Given the description of an element on the screen output the (x, y) to click on. 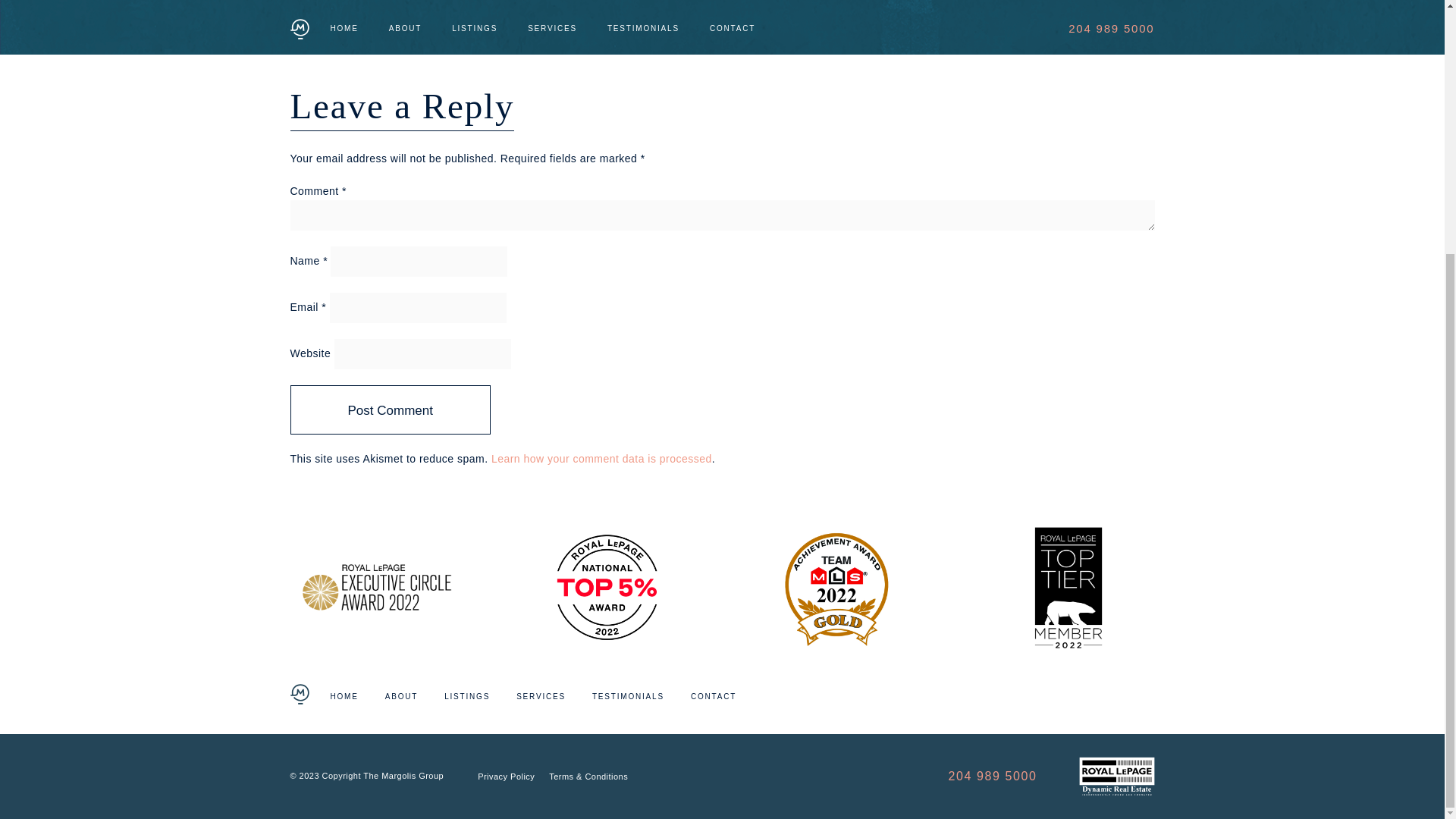
RLP National Top 5 Award 2022 (606, 586)
LISTINGS (466, 696)
Learn how your comment data is processed (601, 458)
RLP Top Tier Member 2022 (1067, 586)
RLP Executive Circle Award 2022 (376, 587)
ABOUT (401, 696)
TESTIMONIALS (627, 696)
Post Comment (389, 409)
Post Comment (389, 409)
Privacy Policy (505, 776)
CONTACT (713, 696)
SERVICES (541, 696)
Team Gold Medallion 2022 (837, 586)
HOME (344, 696)
204 989 5000 (991, 775)
